Given the description of an element on the screen output the (x, y) to click on. 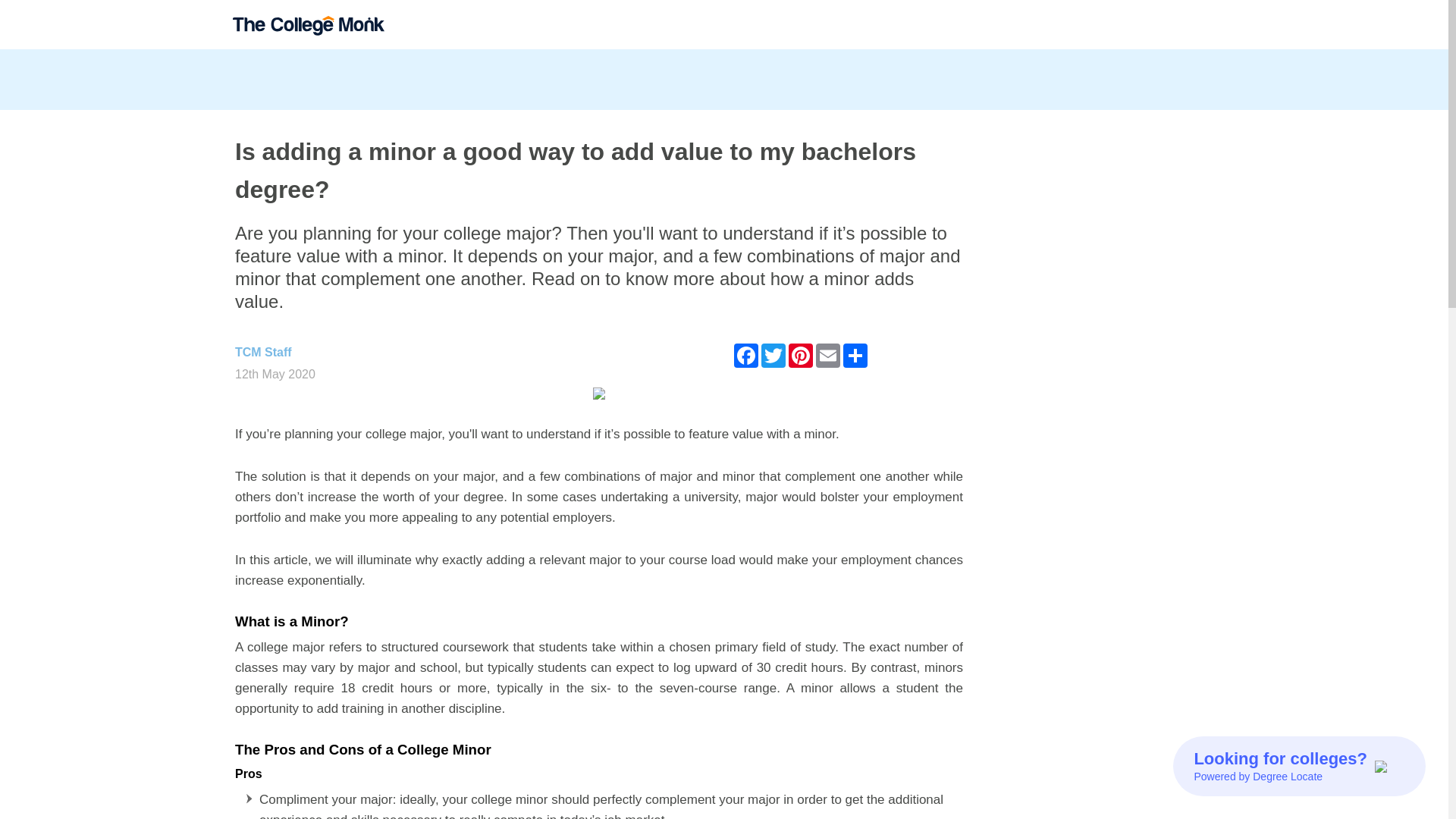
Student Loans (1129, 24)
Twitter (773, 355)
Blog (1197, 24)
Colleges Search (933, 24)
Email (827, 355)
Share (855, 355)
Facebook (746, 355)
Scholarships (1034, 24)
Pinterest (800, 355)
